Given the description of an element on the screen output the (x, y) to click on. 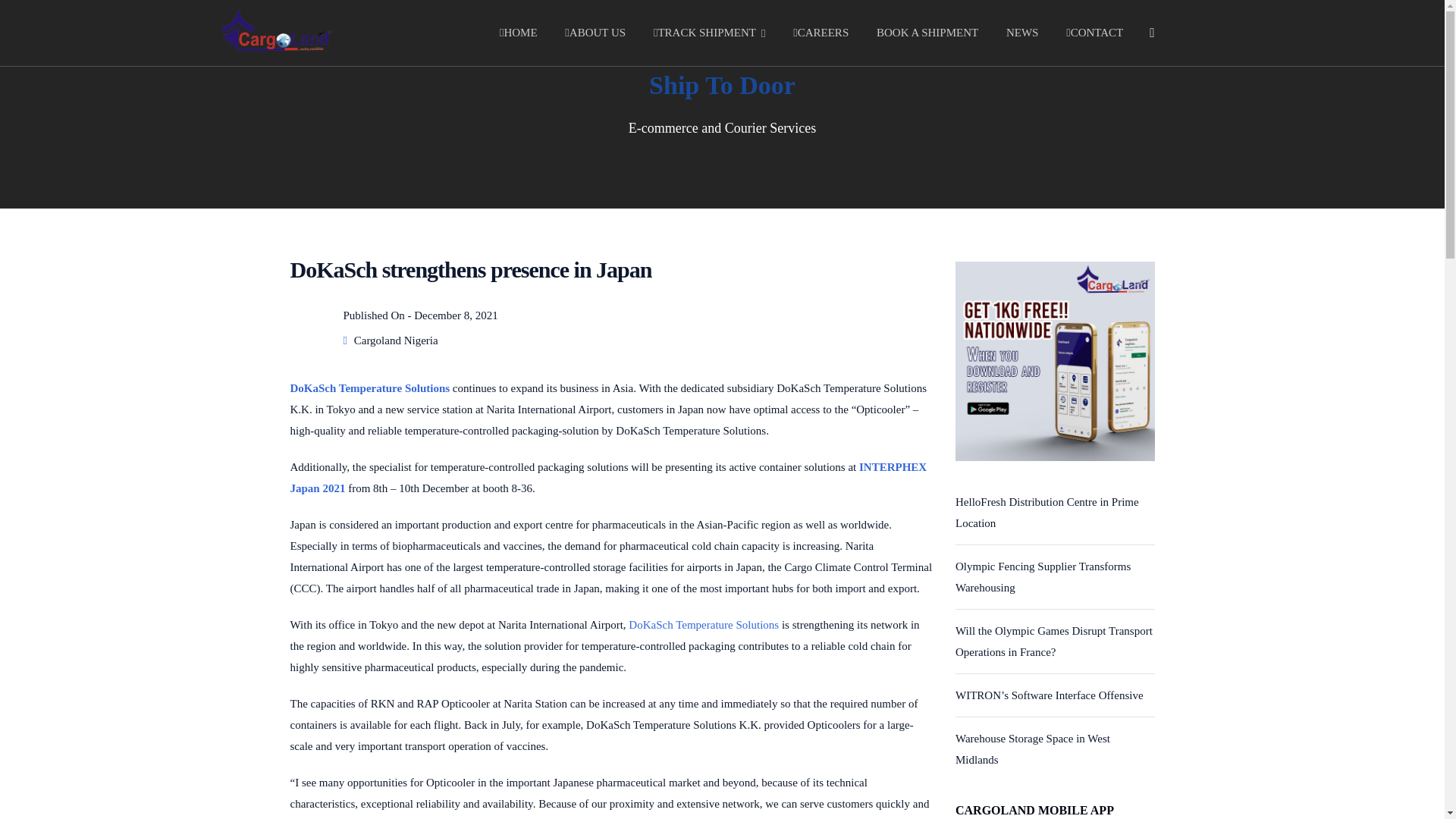
NEWS (1022, 33)
CAREERS (820, 33)
ABOUT US (595, 33)
BOOK A SHIPMENT (927, 33)
Cargoland Nigeria (395, 340)
INTERPHEX Japan 2021 (607, 477)
CONTACT (1093, 33)
HOME (518, 33)
TRACK SHIPMENT (709, 33)
DoKaSch Temperature Solutions (703, 624)
DoKaSch Temperature Solutions (369, 387)
December 8, 2021 (455, 315)
